Given the description of an element on the screen output the (x, y) to click on. 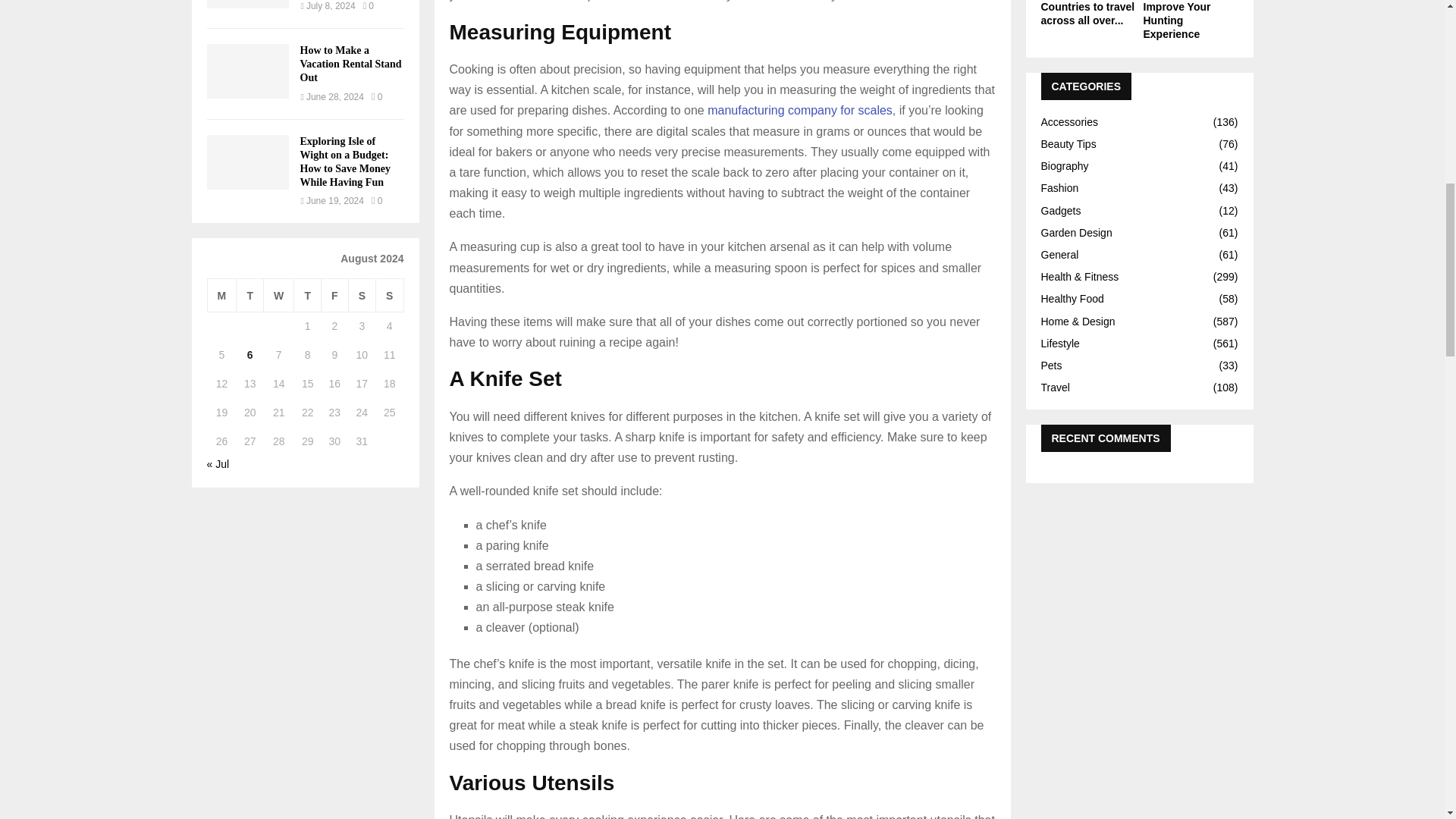
manufacturing company for scales (799, 110)
